Given the description of an element on the screen output the (x, y) to click on. 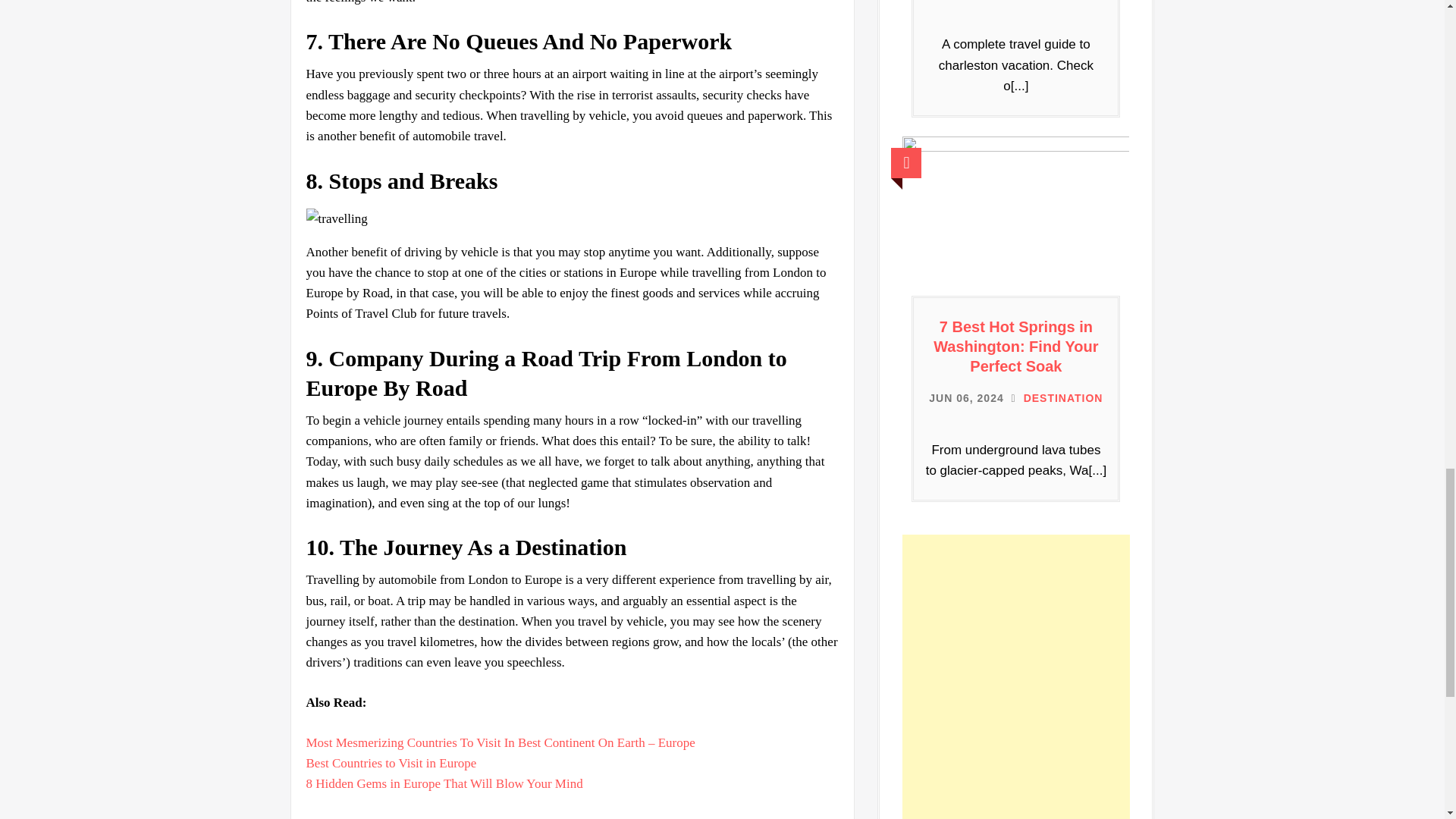
8 Hidden Gems in Europe That Will Blow Your Mind (444, 783)
Travel tips (402, 817)
A Complete Guide to Plan Your Maui Trip (500, 742)
Best Countries to Visit in Europe (391, 762)
